Given the description of an element on the screen output the (x, y) to click on. 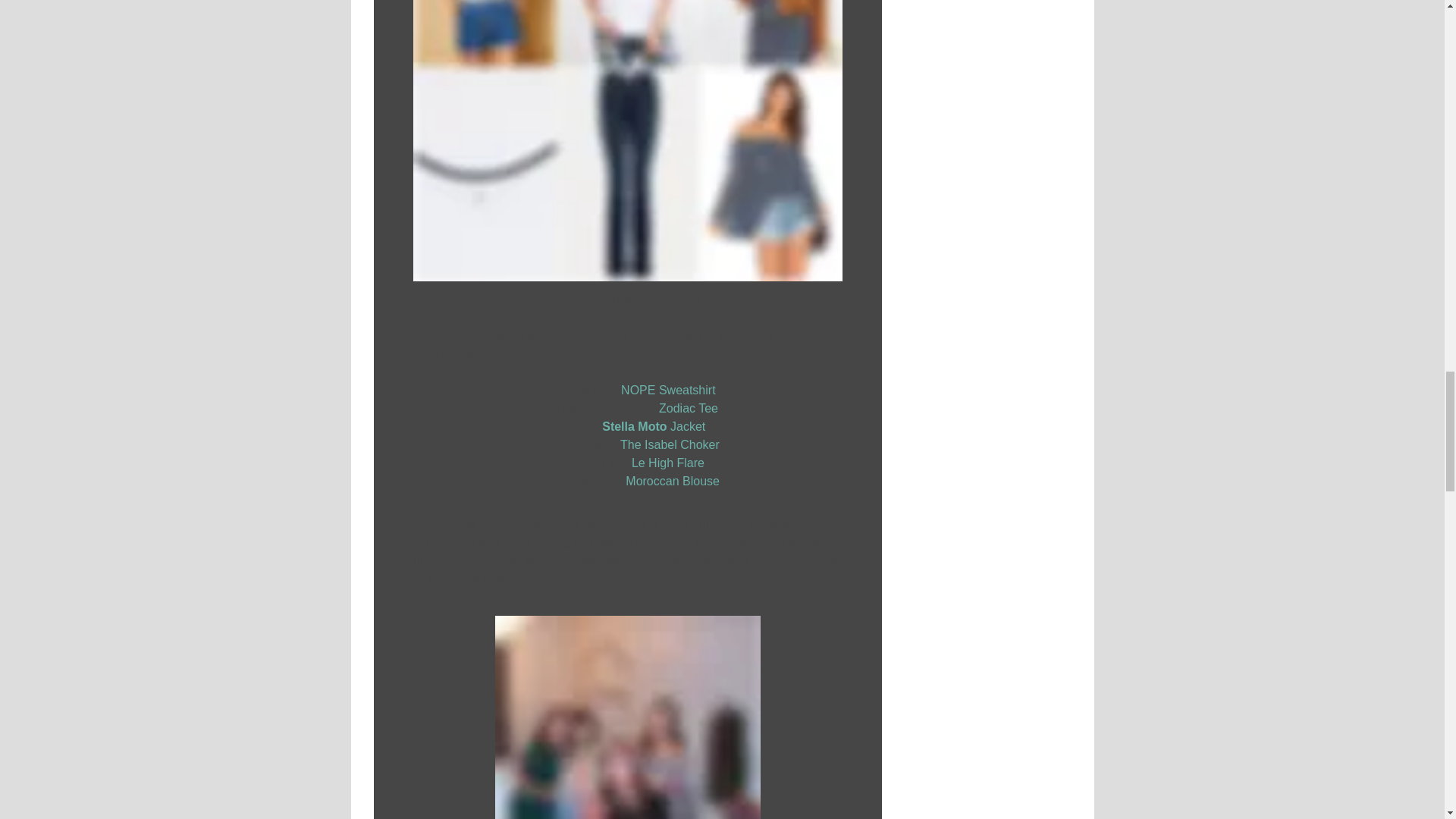
Jacket (686, 426)
Le High Flare (666, 462)
NOPE Sweatshirt (667, 390)
The Isabel Choker (669, 444)
Zodiac Tee (687, 408)
Stella Moto  (635, 426)
Moroccan Blouse (672, 481)
